Given the description of an element on the screen output the (x, y) to click on. 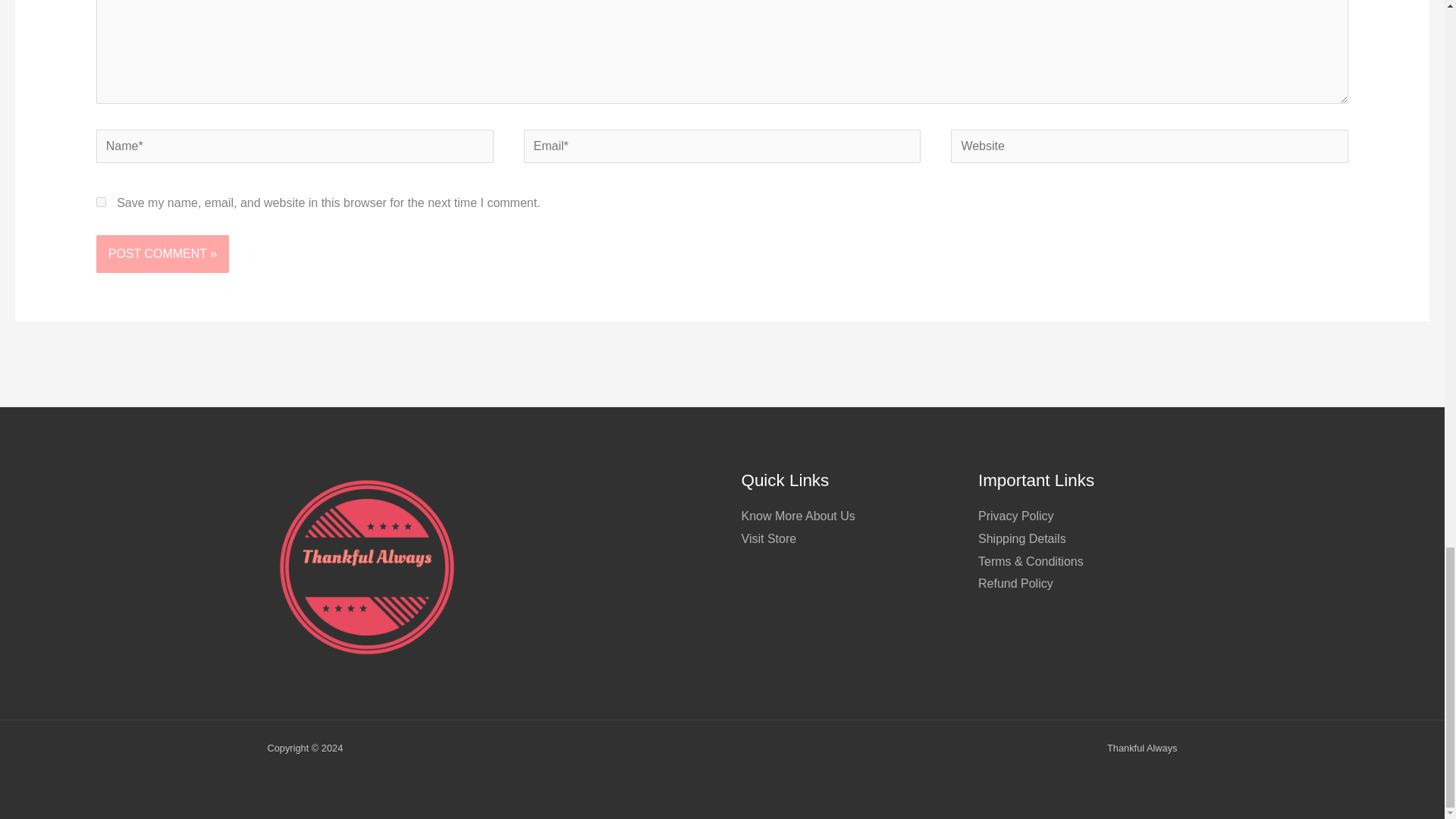
Privacy Policy (1016, 515)
Know More About Us (798, 515)
Shipping Details (1021, 538)
Refund Policy (1015, 583)
Visit Store (768, 538)
yes (101, 202)
